Given the description of an element on the screen output the (x, y) to click on. 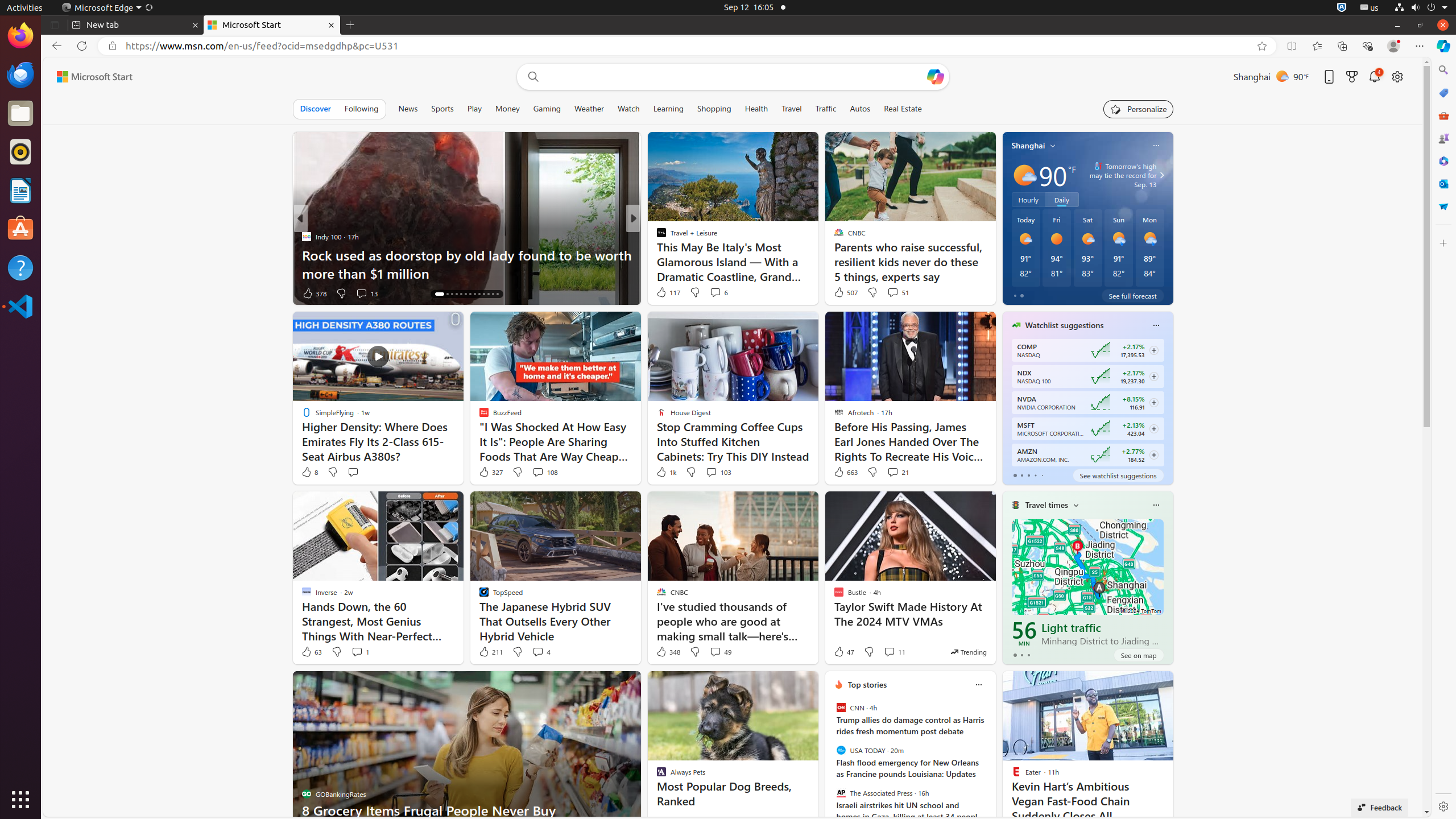
Collections Element type: push-button (1341, 45)
1k Like Element type: toggle-button (665, 472)
Web search Element type: push-button (530, 76)
tab-4 Element type: page-tab (1041, 475)
Daily Element type: list-item (1061, 199)
